Given the description of an element on the screen output the (x, y) to click on. 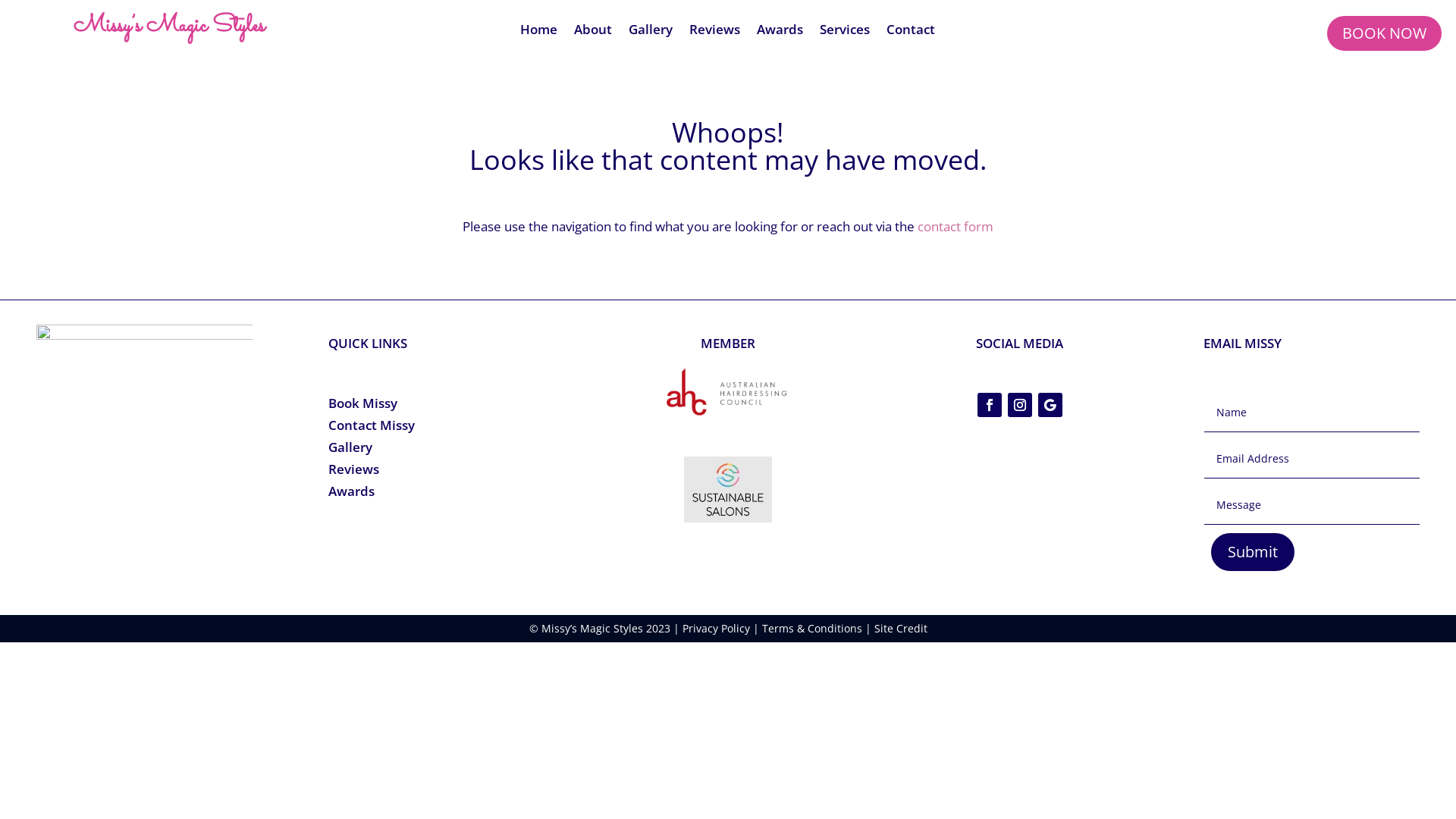
Awards Element type: text (779, 32)
contact form Element type: text (955, 226)
Contact Missy Element type: text (371, 424)
Site Credit Element type: text (899, 628)
Follow on Facebook Element type: hover (989, 404)
Follow on Instagram Element type: hover (1019, 404)
Services Element type: text (844, 32)
Gallery Element type: text (350, 446)
Book Missy Element type: text (362, 402)
BOOK NOW Element type: text (1384, 33)
Privacy Policy Element type: text (715, 628)
Melissa Neville PNG Element type: hover (144, 458)
Contact Element type: text (910, 32)
Awards Element type: text (351, 490)
Terms & Conditions Element type: text (811, 628)
Reviews Element type: text (714, 32)
Follow on Google Element type: hover (1050, 404)
Home Element type: text (538, 32)
About Element type: text (592, 32)
Reviews Element type: text (353, 468)
Gallery Element type: text (650, 32)
Submit Element type: text (1252, 552)
